Given the description of an element on the screen output the (x, y) to click on. 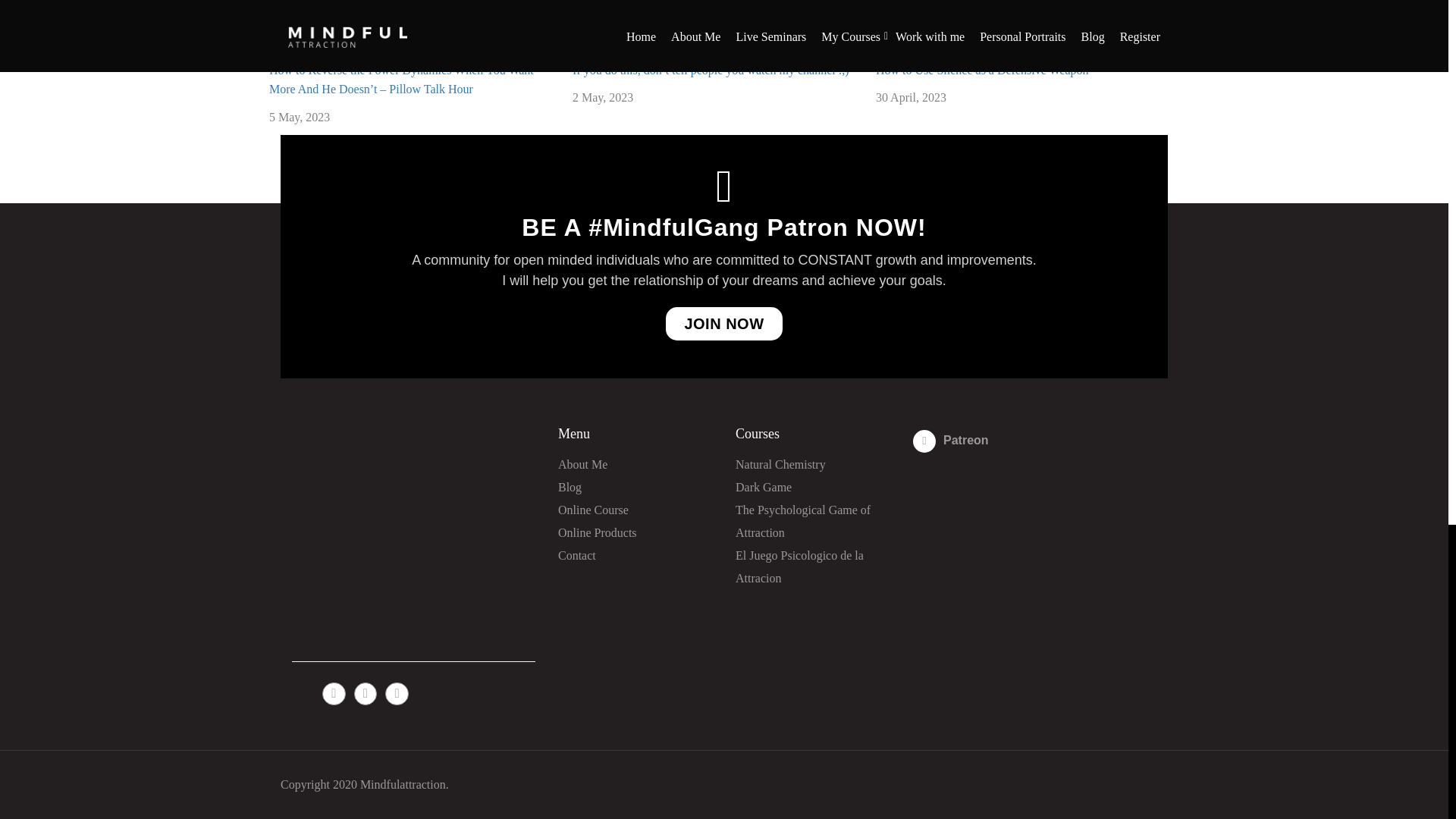
JOIN NOW (723, 323)
How to Use Silence as a Defensive Weapon (982, 69)
How to Use Silence as a Defensive Weapon (982, 69)
